Given the description of an element on the screen output the (x, y) to click on. 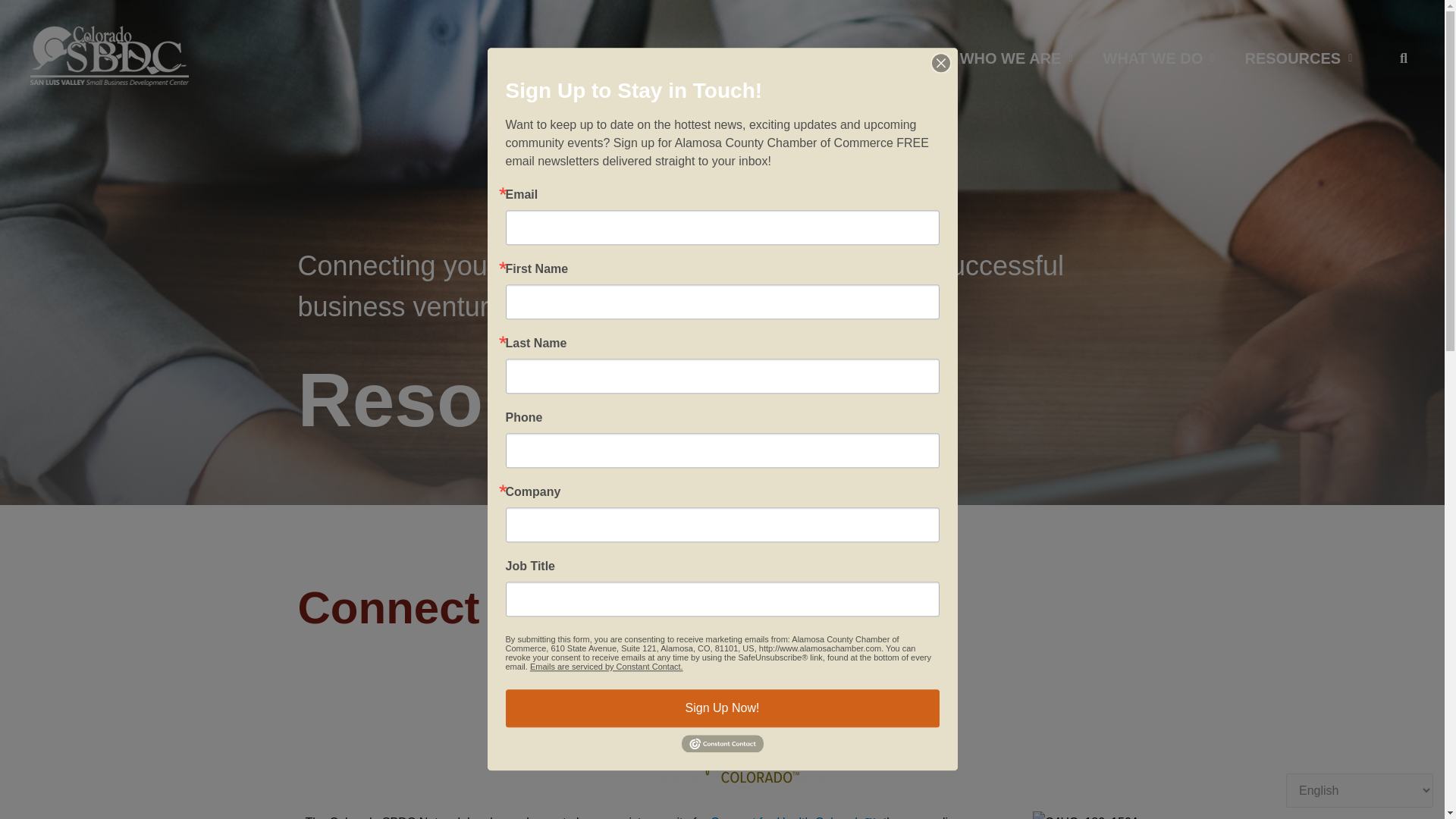
WHAT WE DO (1157, 58)
RESOURCES (1297, 58)
WHO WE ARE (1015, 58)
connectforhealth (721, 743)
Close (940, 61)
